Given the description of an element on the screen output the (x, y) to click on. 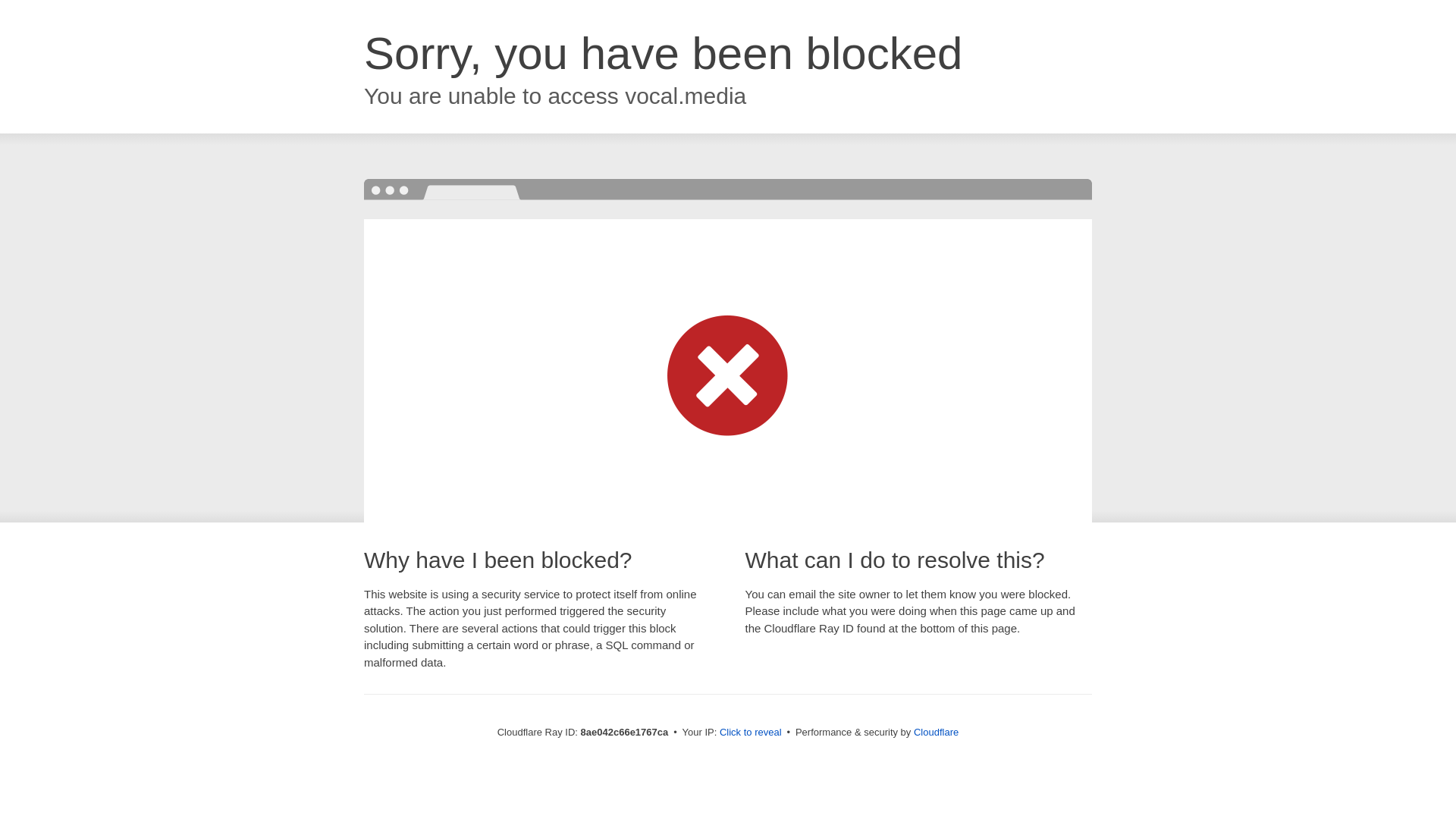
Click to reveal (750, 732)
Cloudflare (936, 731)
